Given the description of an element on the screen output the (x, y) to click on. 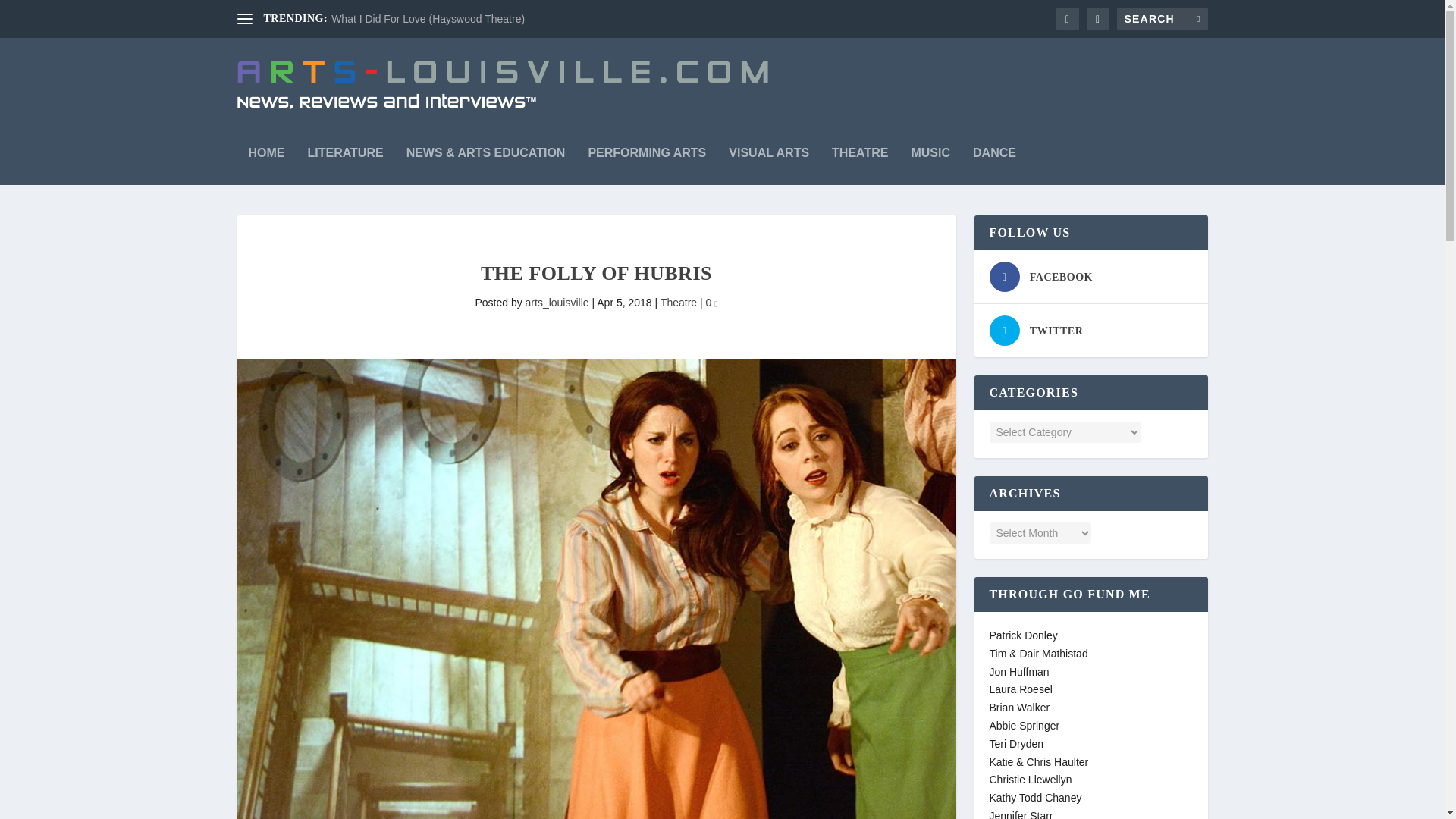
Search for: (1161, 18)
PERFORMING ARTS (647, 158)
LITERATURE (345, 158)
THEATRE (859, 158)
VISUAL ARTS (769, 158)
